Given the description of an element on the screen output the (x, y) to click on. 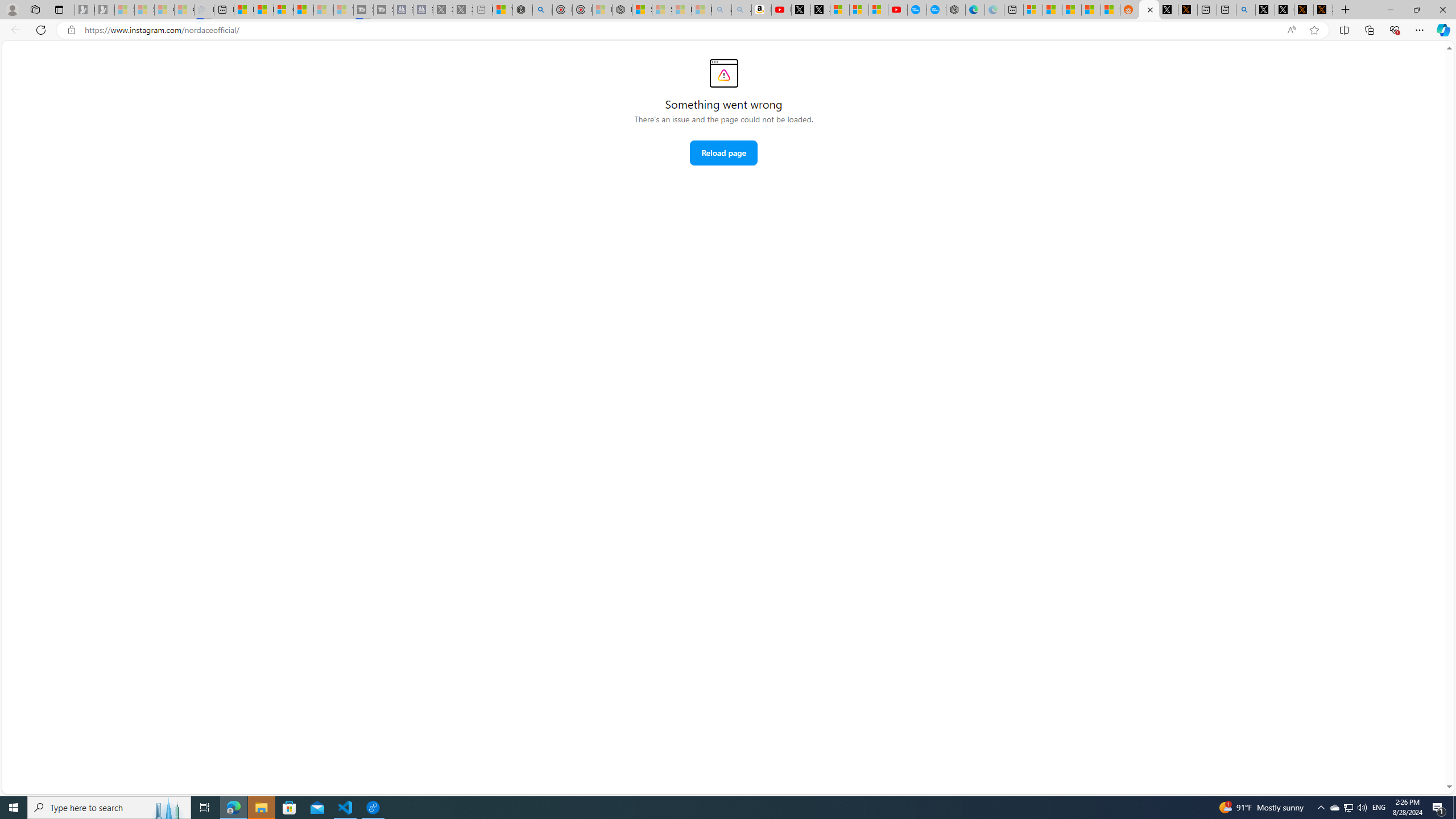
Newsletter Sign Up - Sleeping (104, 9)
The most popular Google 'how to' searches (935, 9)
Overview (283, 9)
Opinion: Op-Ed and Commentary - USA TODAY (916, 9)
Nordace - Nordace has arrived Hong Kong (954, 9)
